Given the description of an element on the screen output the (x, y) to click on. 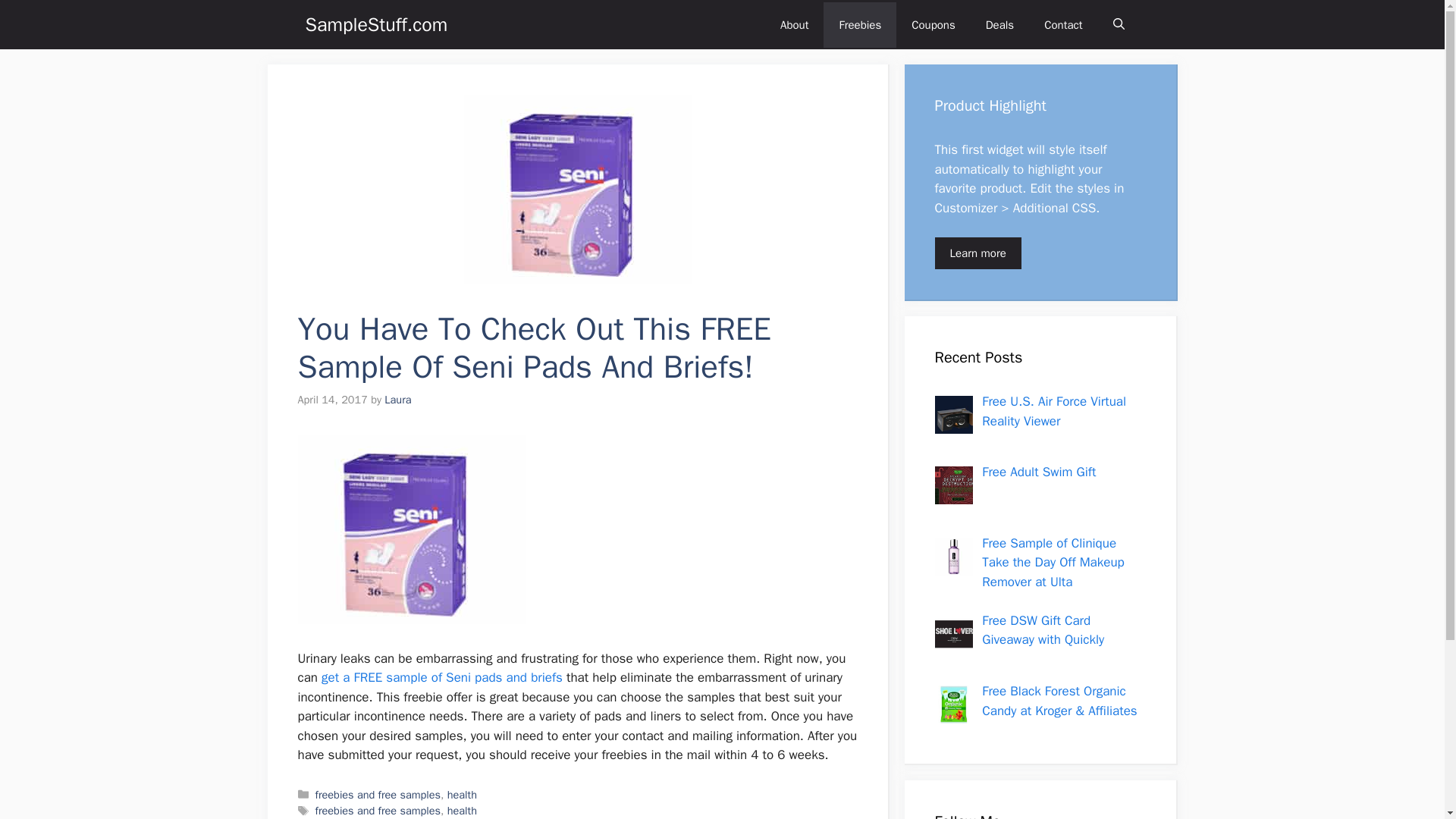
Free Adult Swim Gift (1038, 471)
Coupons (933, 23)
Laura (397, 399)
health (461, 810)
Free U.S. Air Force Virtual Reality Viewer (1053, 411)
SampleStuff.com (375, 24)
Learn more (977, 252)
Deals (1000, 23)
freebies and free samples (378, 810)
